Given the description of an element on the screen output the (x, y) to click on. 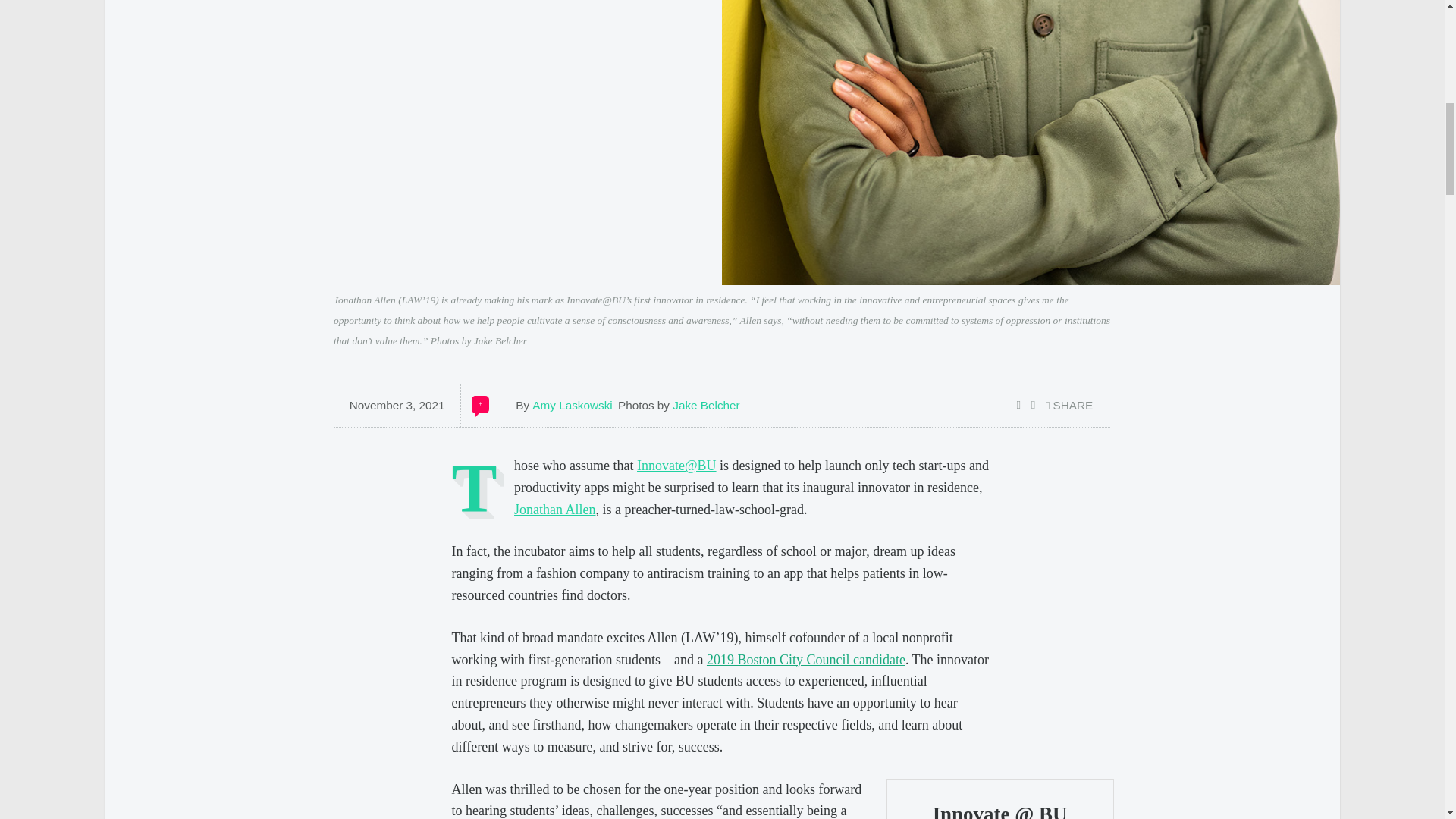
Jake Belcher (705, 404)
2019 Boston City Council candidate (805, 659)
Jonathan Allen (554, 509)
Amy Laskowski (571, 404)
